Given the description of an element on the screen output the (x, y) to click on. 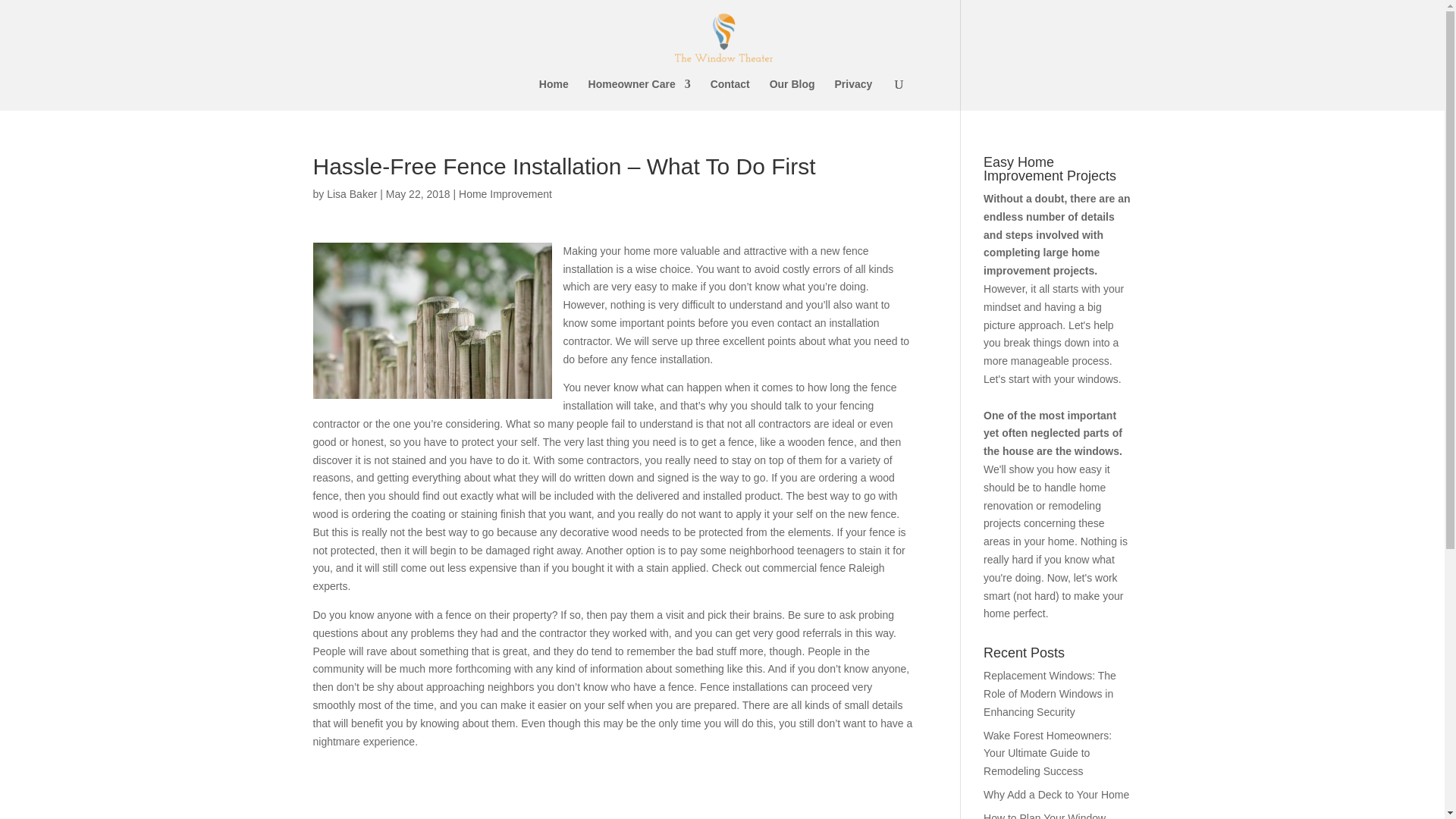
Contact (729, 94)
Our Blog (792, 94)
Why Add a Deck to Your Home (1056, 794)
Privacy (853, 94)
Home Improvement (504, 193)
How to Plan Your Window Replacement Project (1044, 815)
Home (553, 94)
Lisa Baker (351, 193)
Posts by Lisa Baker (351, 193)
Homeowner Care (639, 94)
